Given the description of an element on the screen output the (x, y) to click on. 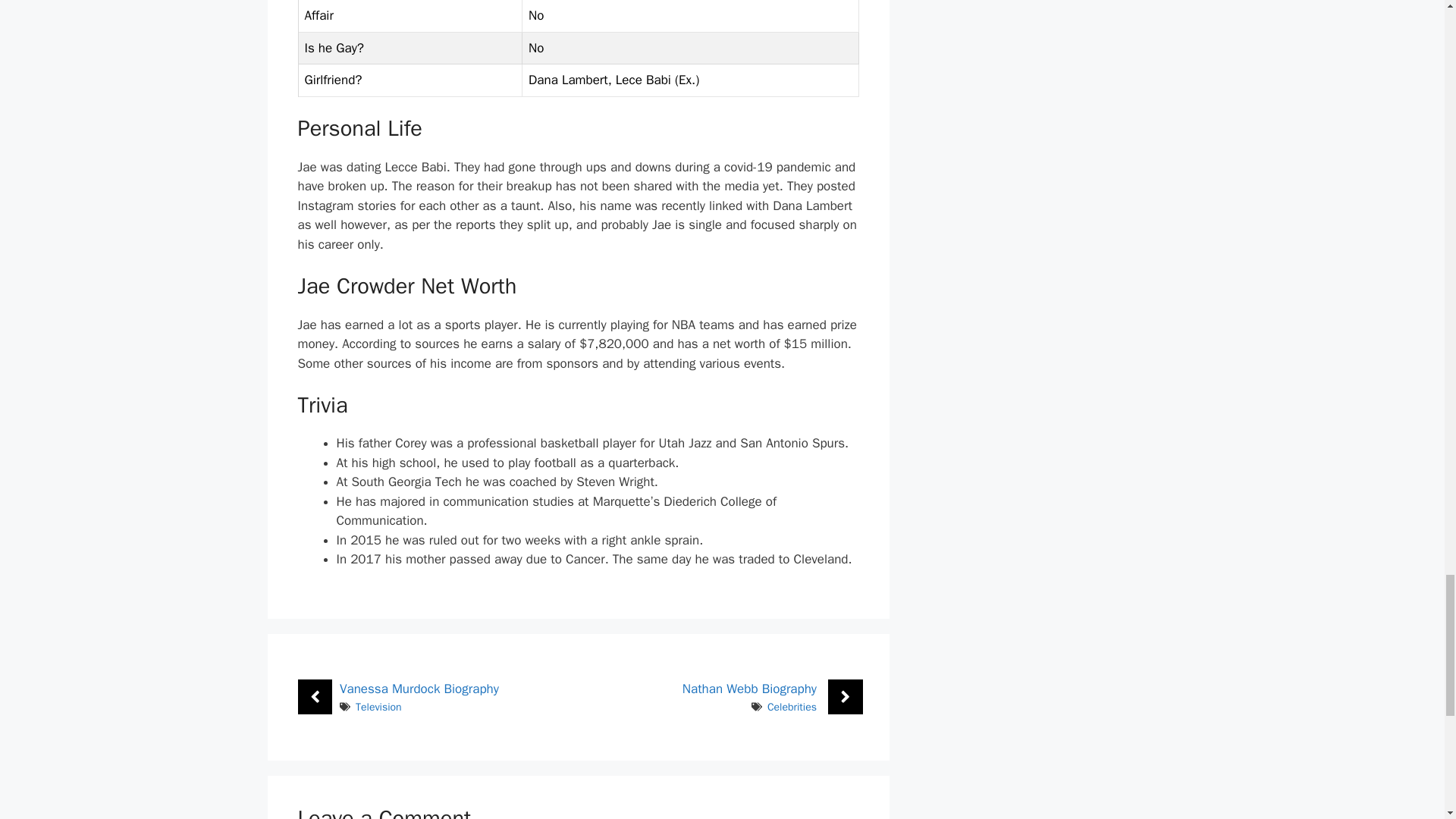
Celebrities (791, 707)
Nathan Webb Biography (749, 688)
Television (378, 707)
Vanessa Murdock Biography (419, 688)
